Given the description of an element on the screen output the (x, y) to click on. 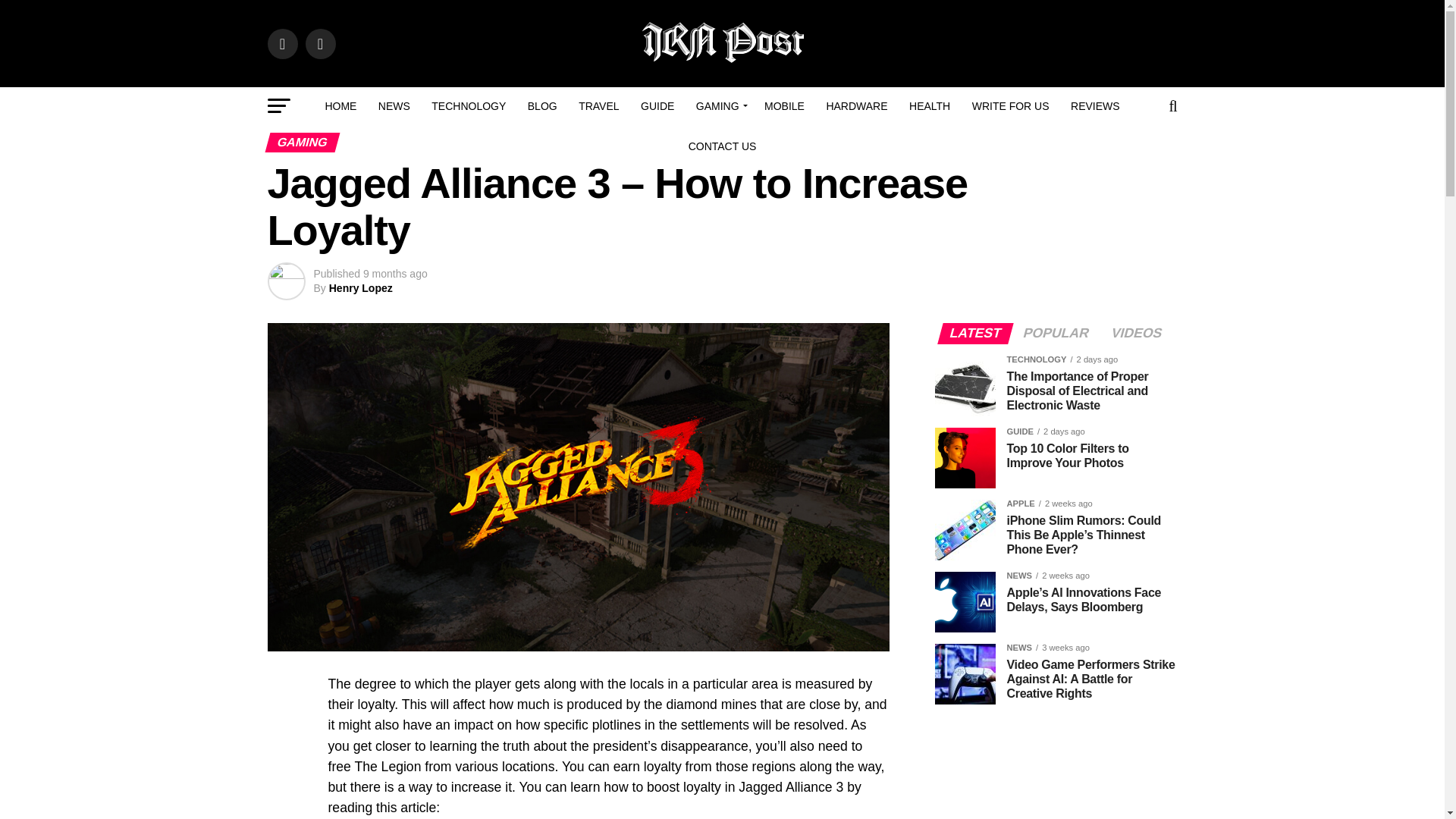
Posts by Henry Lopez (361, 287)
NEWS (394, 105)
TECHNOLOGY (468, 105)
BLOG (542, 105)
TRAVEL (598, 105)
GUIDE (656, 105)
GAMING (719, 105)
HOME (340, 105)
